Given the description of an element on the screen output the (x, y) to click on. 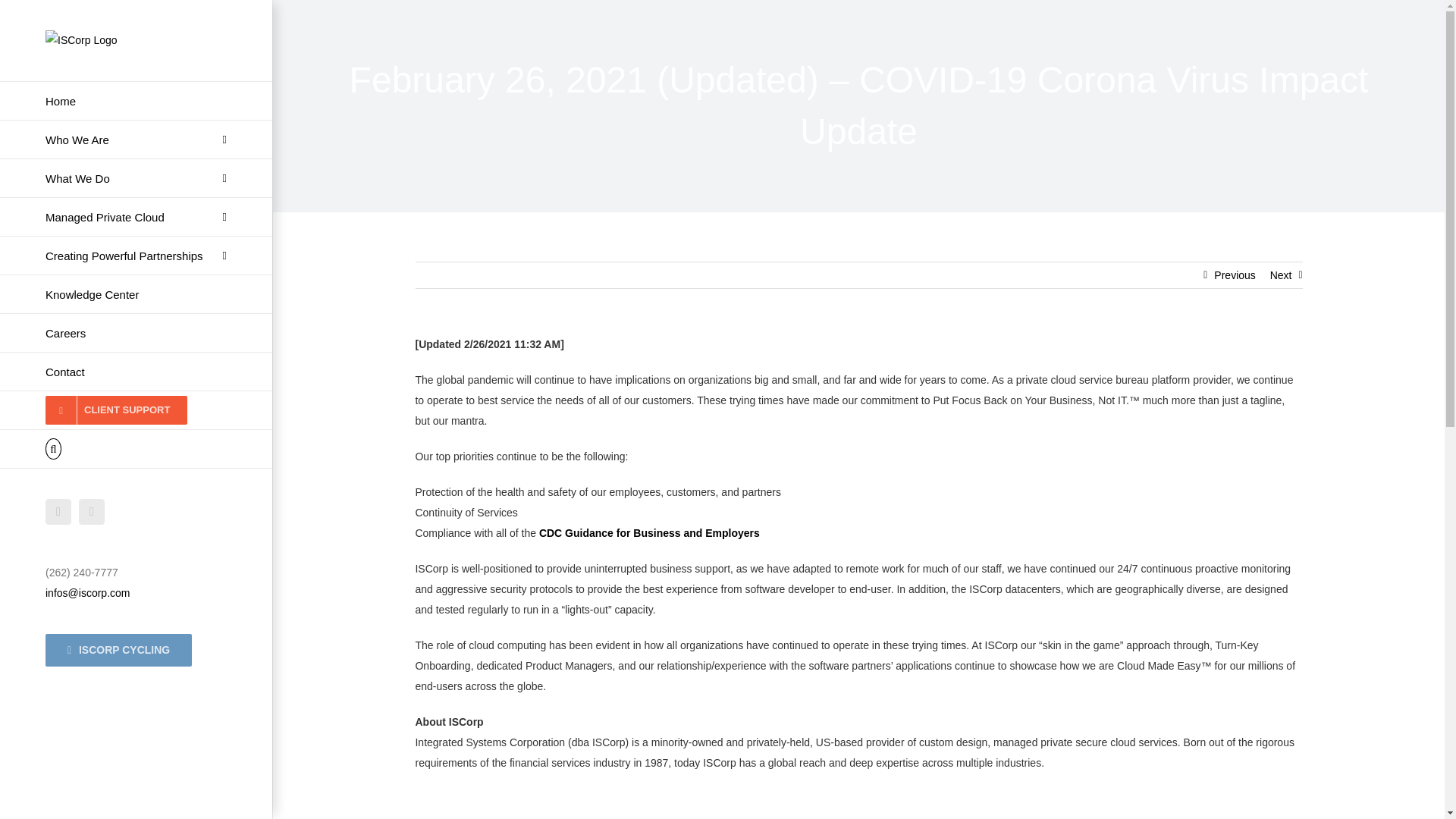
Careers (136, 332)
YouTube (91, 511)
Home (136, 100)
What We Do (136, 178)
Who We Are (136, 139)
Creating Powerful Partnerships (136, 255)
Search (136, 448)
Knowledge Center (136, 294)
Managed Private Cloud (136, 217)
LinkedIn (58, 511)
